Given the description of an element on the screen output the (x, y) to click on. 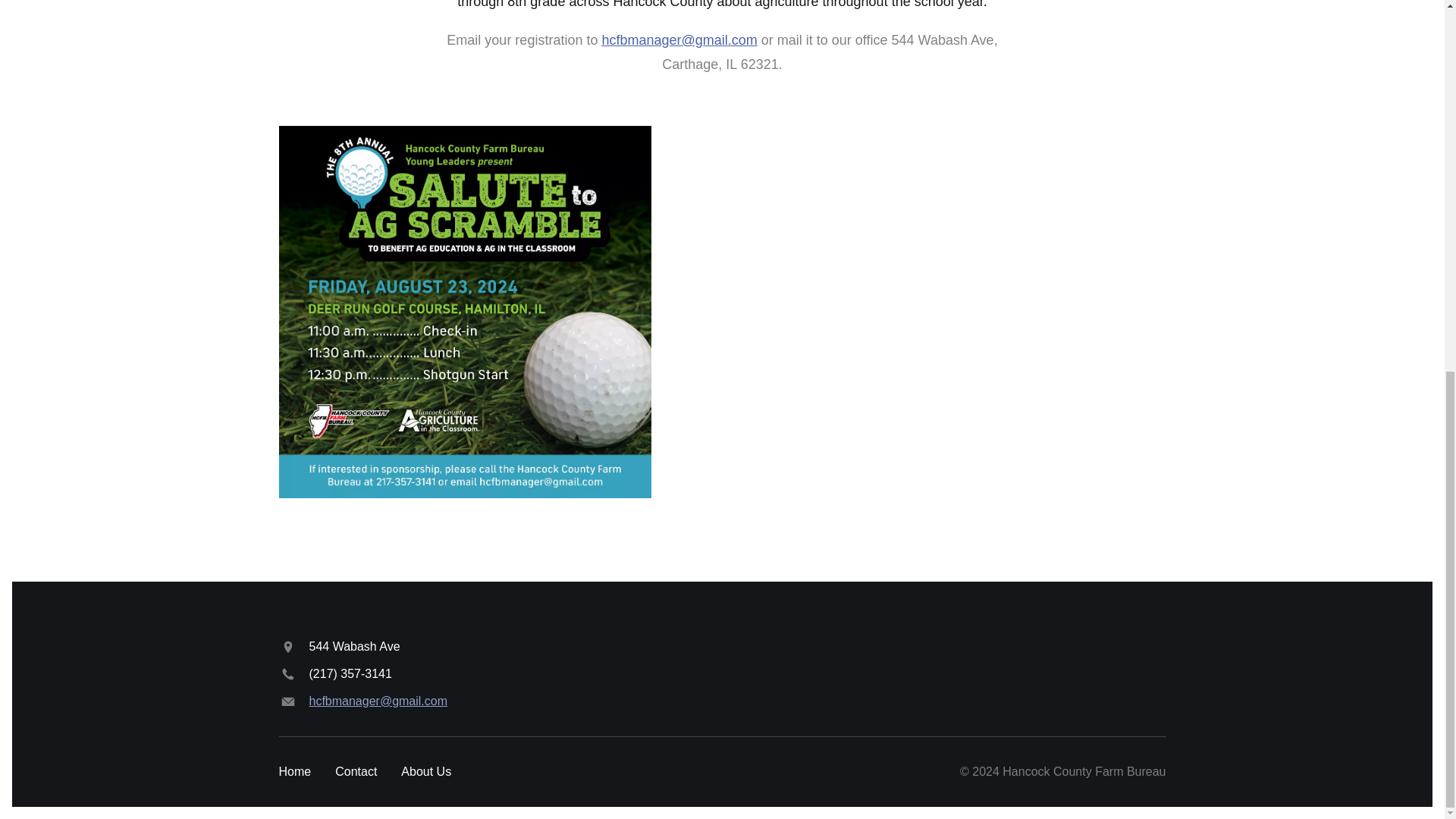
About Us (426, 771)
Home (295, 771)
Contact (355, 771)
